Given the description of an element on the screen output the (x, y) to click on. 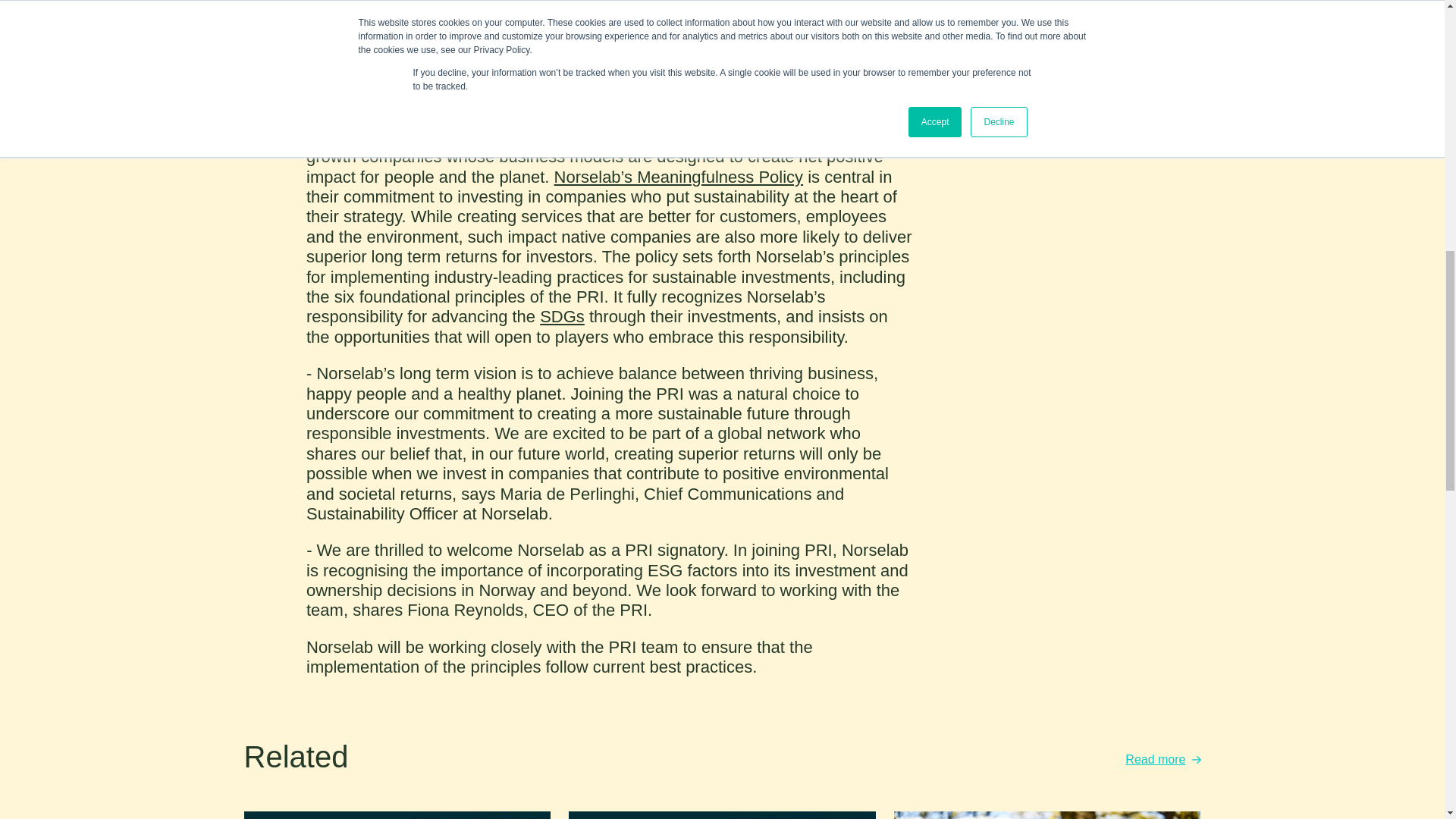
The six Principles for Responsible Investment (574, 46)
SDGs (562, 316)
Read more (1155, 759)
